Given the description of an element on the screen output the (x, y) to click on. 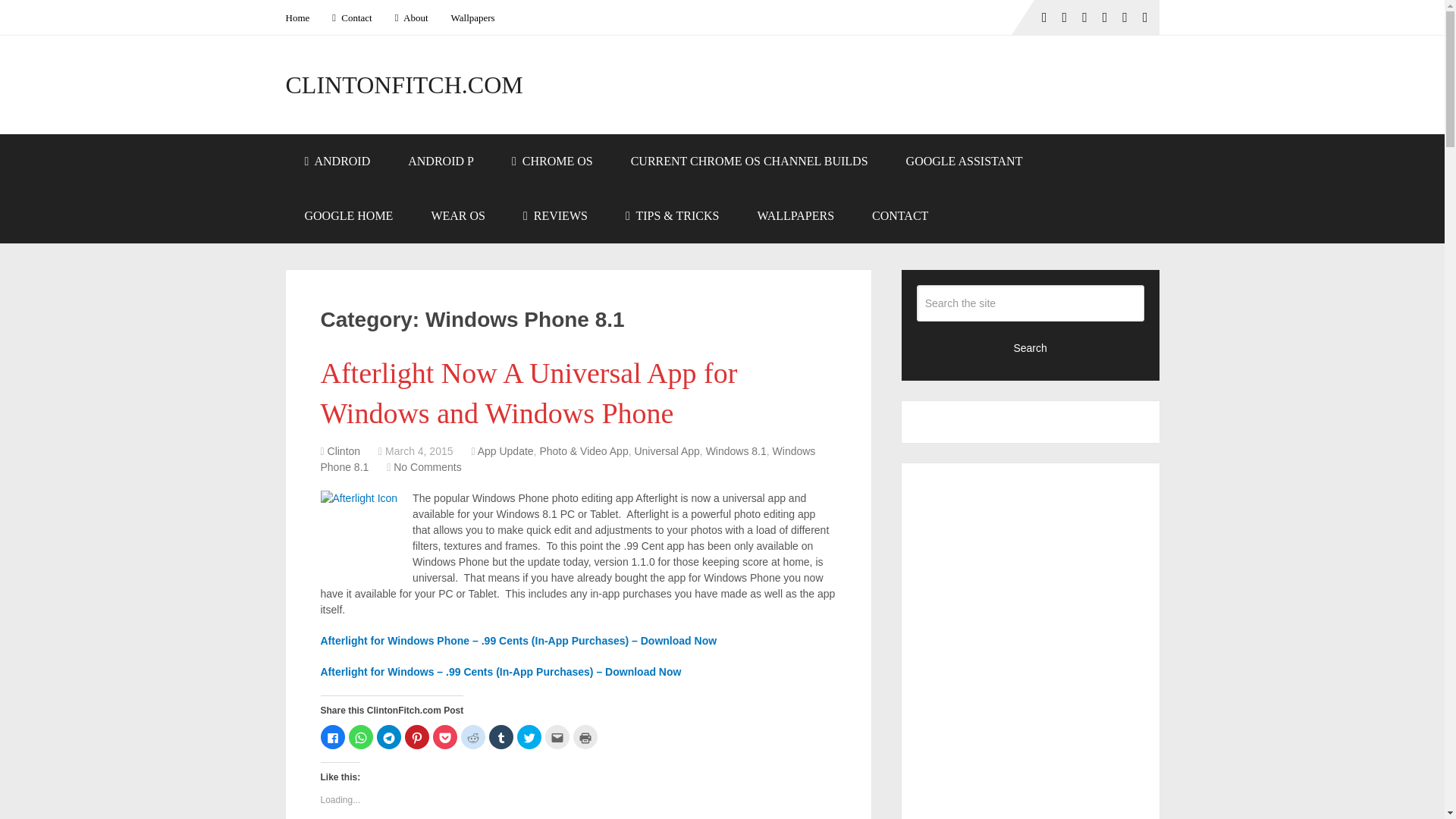
WALLPAPERS (795, 216)
View all posts in Windows Phone 8.1 (567, 459)
Afterlight for Windows Phone (518, 640)
Home (302, 17)
CLINTONFITCH.COM (403, 84)
Afterlight Now A Universal App for Windows and Windows Phone (528, 393)
Click to share on Facebook (331, 736)
CURRENT CHROME OS CHANNEL BUILDS (748, 161)
ANDROID (336, 161)
View all posts in Windows 8.1 (736, 451)
